Given the description of an element on the screen output the (x, y) to click on. 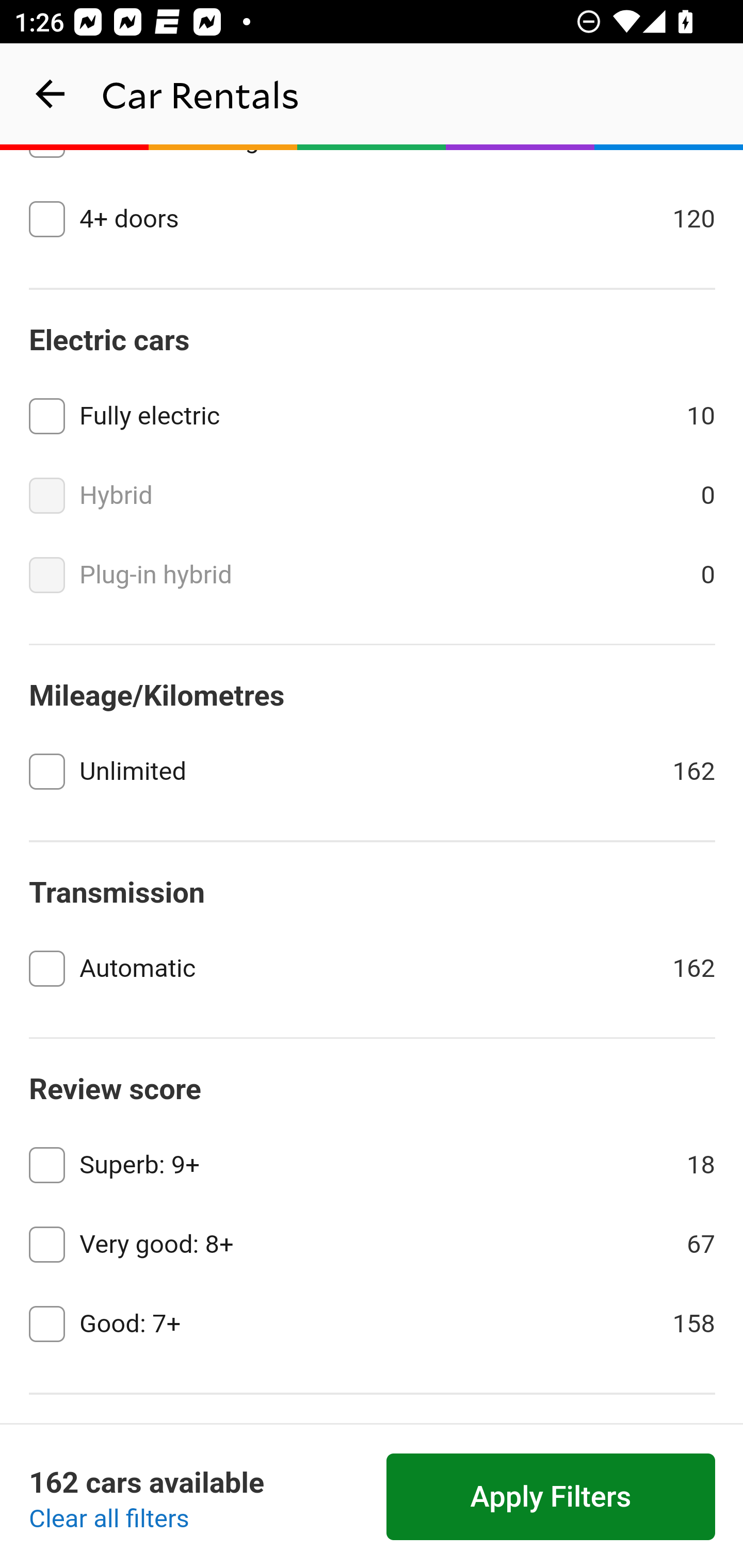
navigation_button (50, 93)
Apply Filters (551, 1497)
Clear all filters (108, 1519)
